Given the description of an element on the screen output the (x, y) to click on. 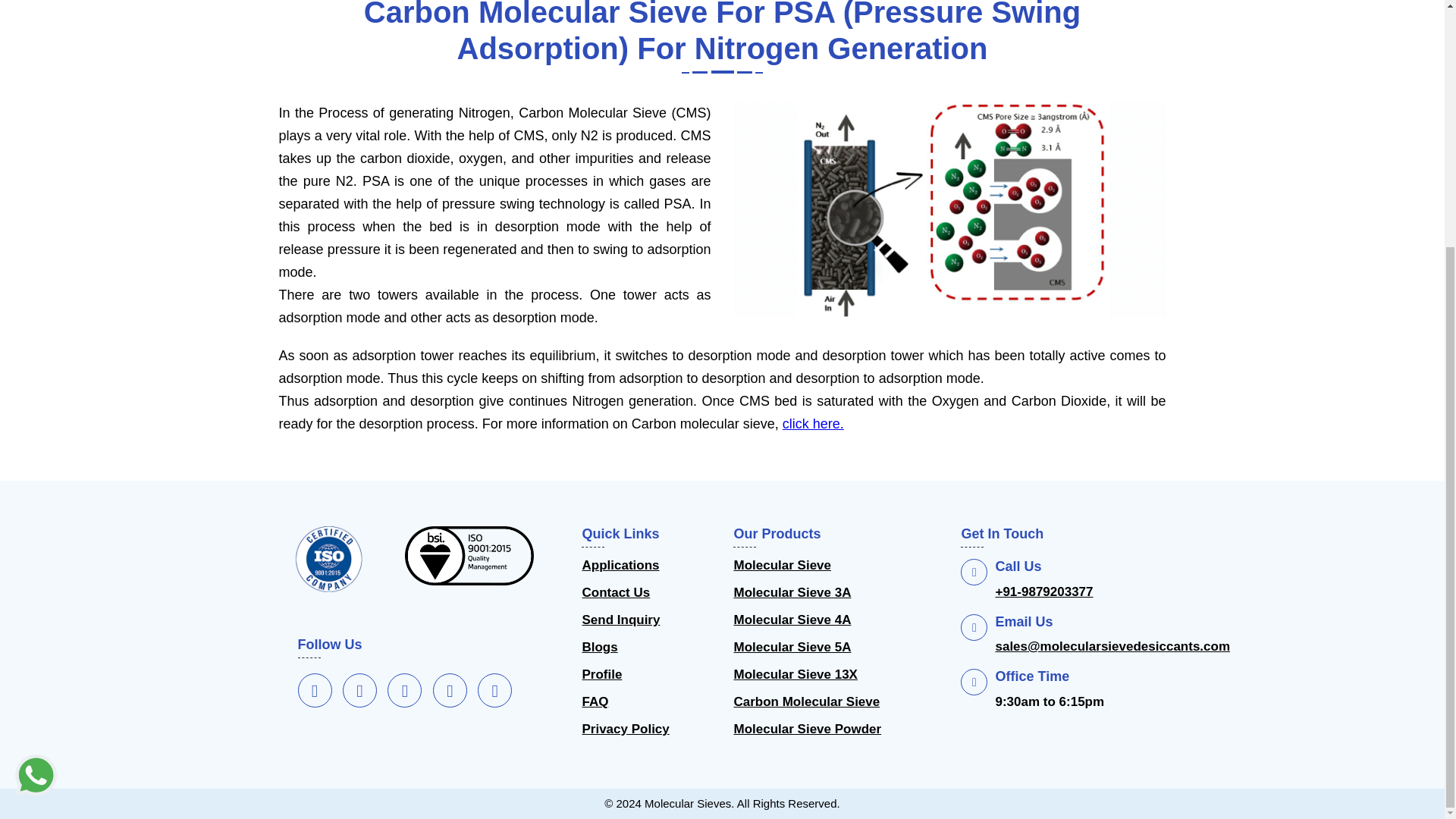
FAQ (594, 701)
click here. (813, 423)
Privacy Policy (624, 728)
Send Inquiry (619, 619)
Profile (600, 674)
Molecular Sieve (782, 565)
Blogs (598, 646)
Applications (619, 565)
Contact Us (614, 592)
